Given the description of an element on the screen output the (x, y) to click on. 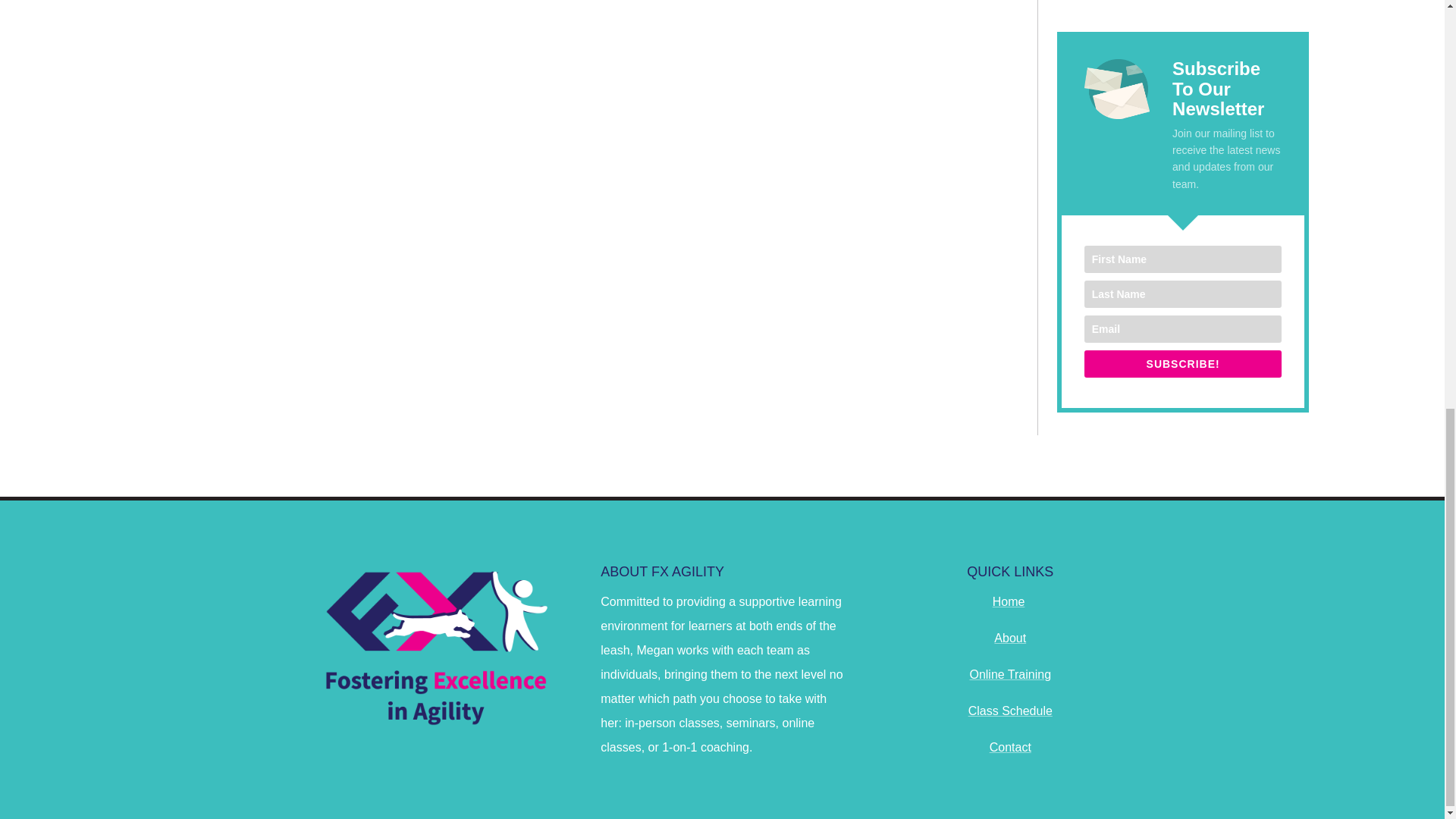
SUBSCRIBE! (1183, 363)
FX-Agillity-Logo-forTEALbkgnd (433, 646)
Home (1008, 601)
Online Training (1010, 674)
About (1010, 637)
Class Schedule (1010, 710)
Contact (1010, 747)
